Given the description of an element on the screen output the (x, y) to click on. 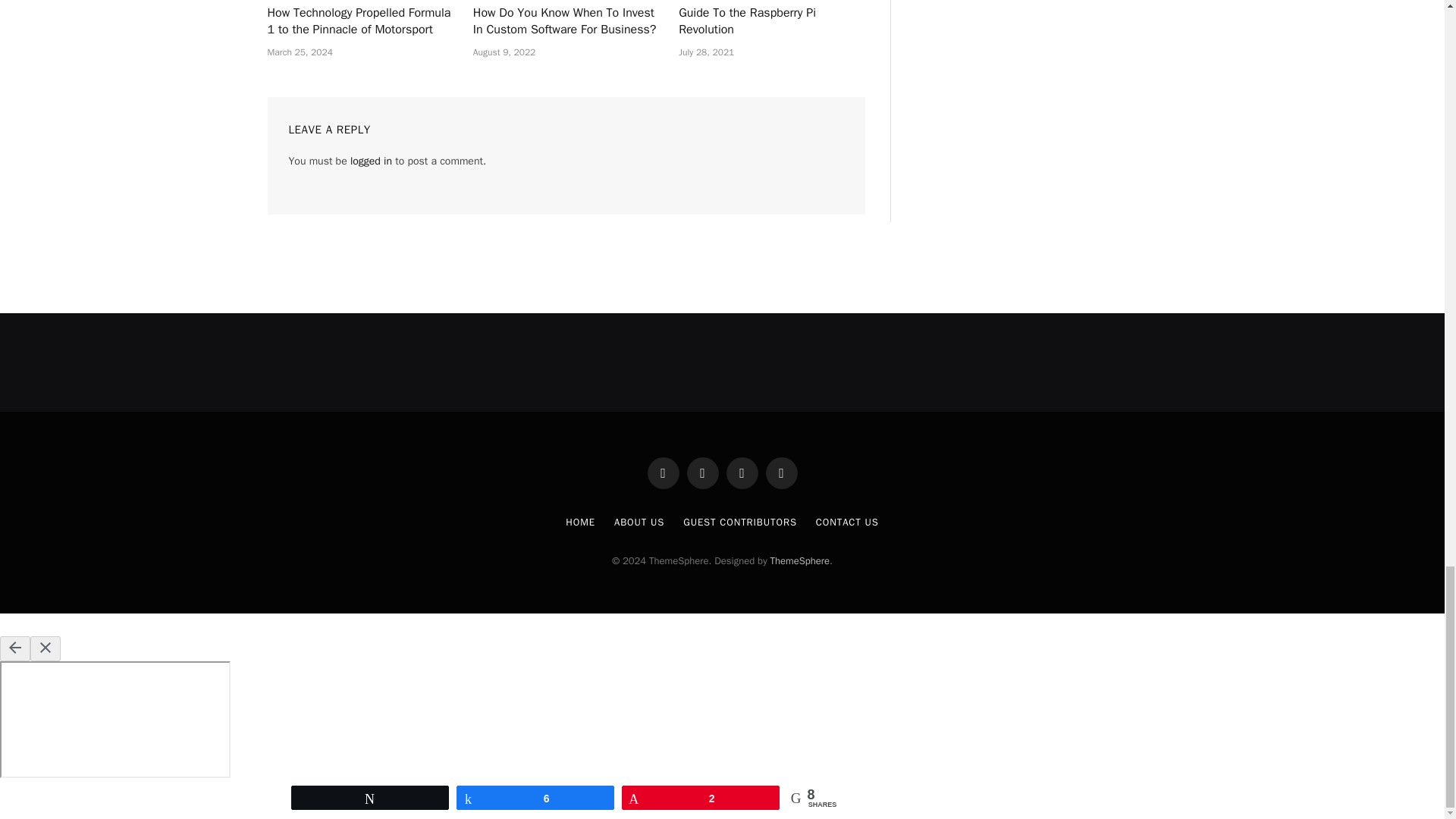
logged in (370, 160)
Guide To the Raspberry Pi Revolution (771, 21)
